Given the description of an element on the screen output the (x, y) to click on. 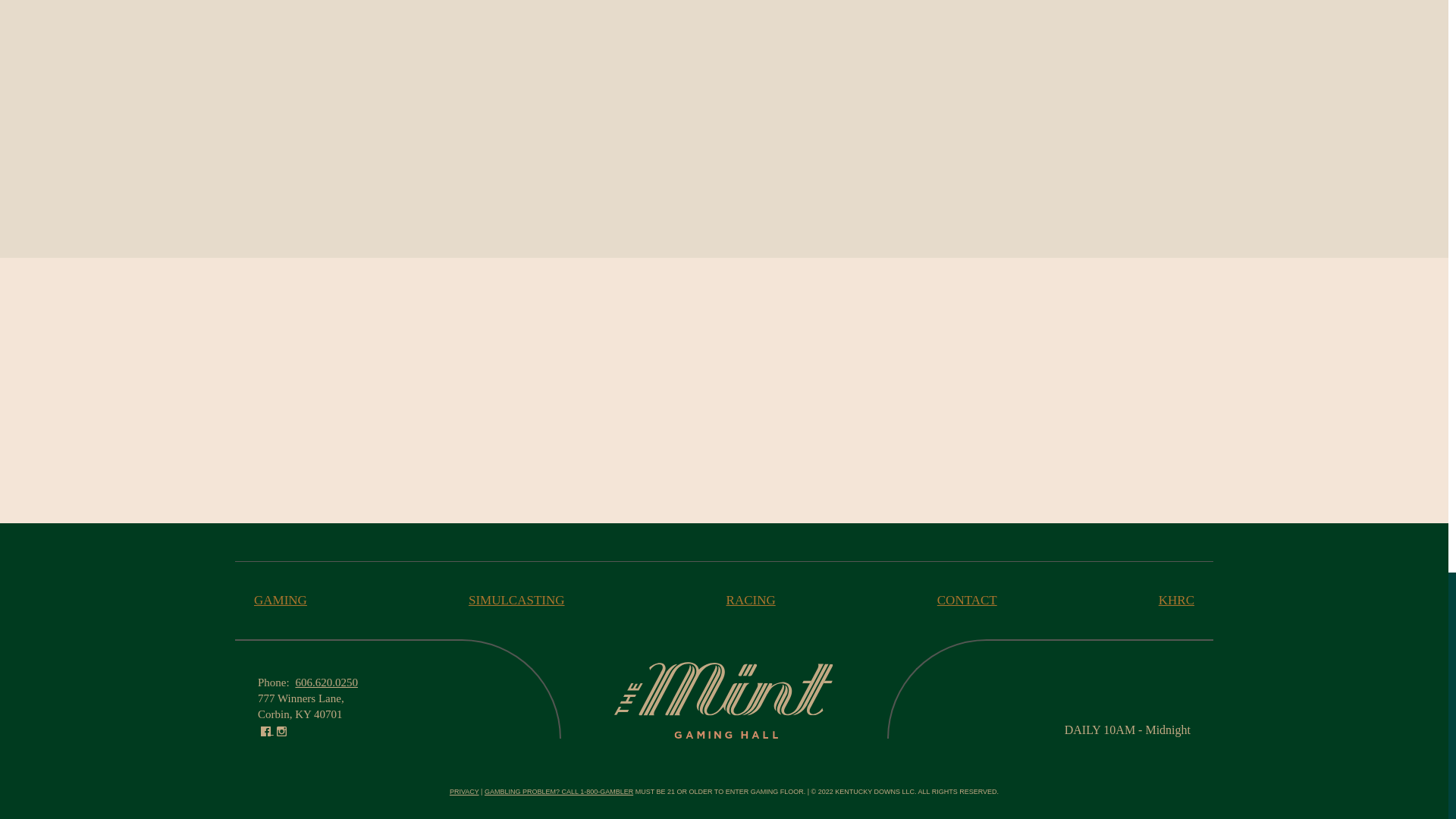
GAMBLING PROBLEM? CALL 1-800-GAMBLER (558, 791)
GAMING (280, 599)
PRIVACY (464, 791)
606.620.0250 (326, 682)
SIMULCASTING (516, 599)
RACING (751, 599)
CONTACT (967, 599)
KHRC (1175, 599)
